Given the description of an element on the screen output the (x, y) to click on. 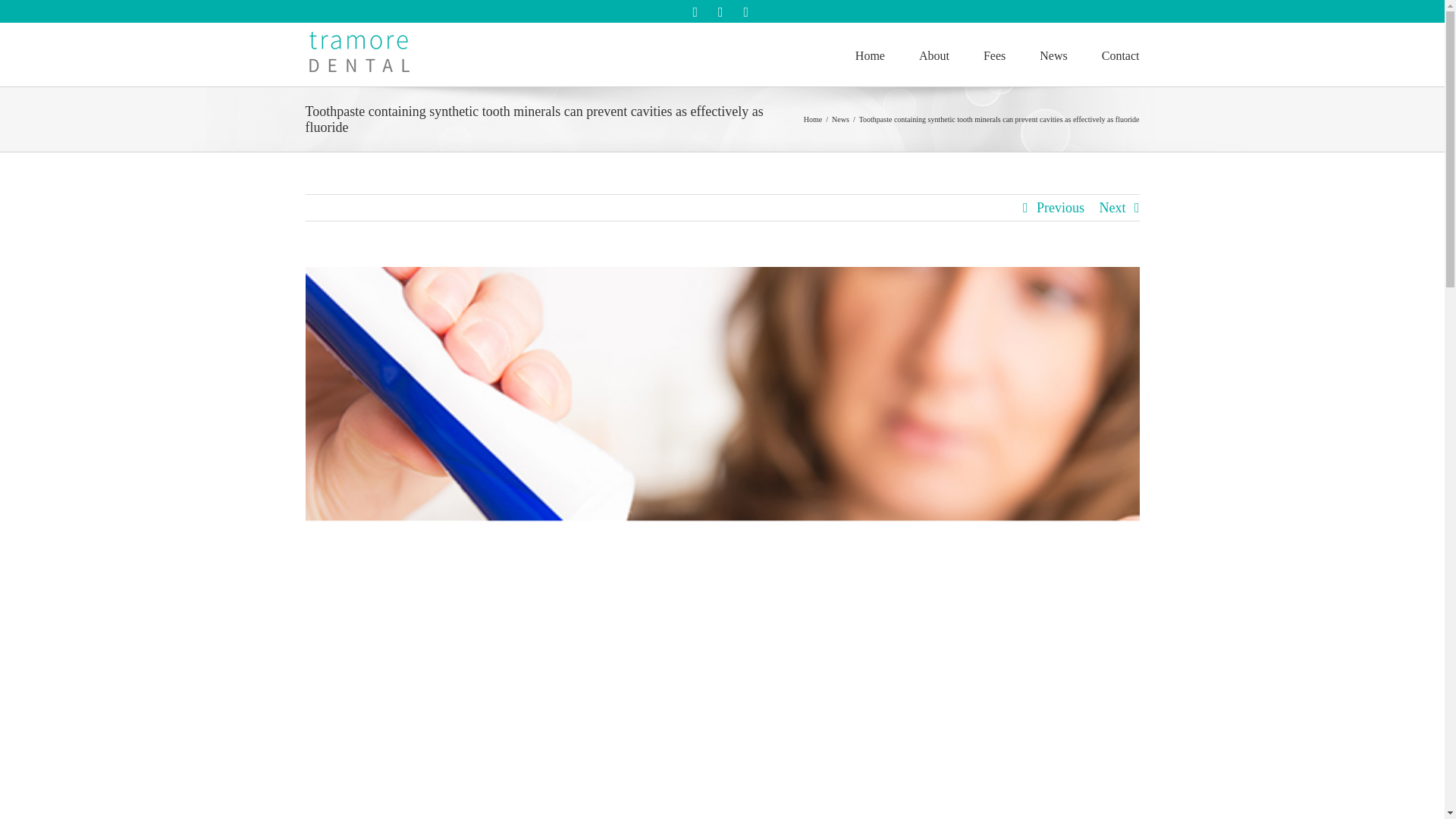
Next (1112, 207)
Previous (1060, 207)
News (839, 119)
Home (812, 119)
